Given the description of an element on the screen output the (x, y) to click on. 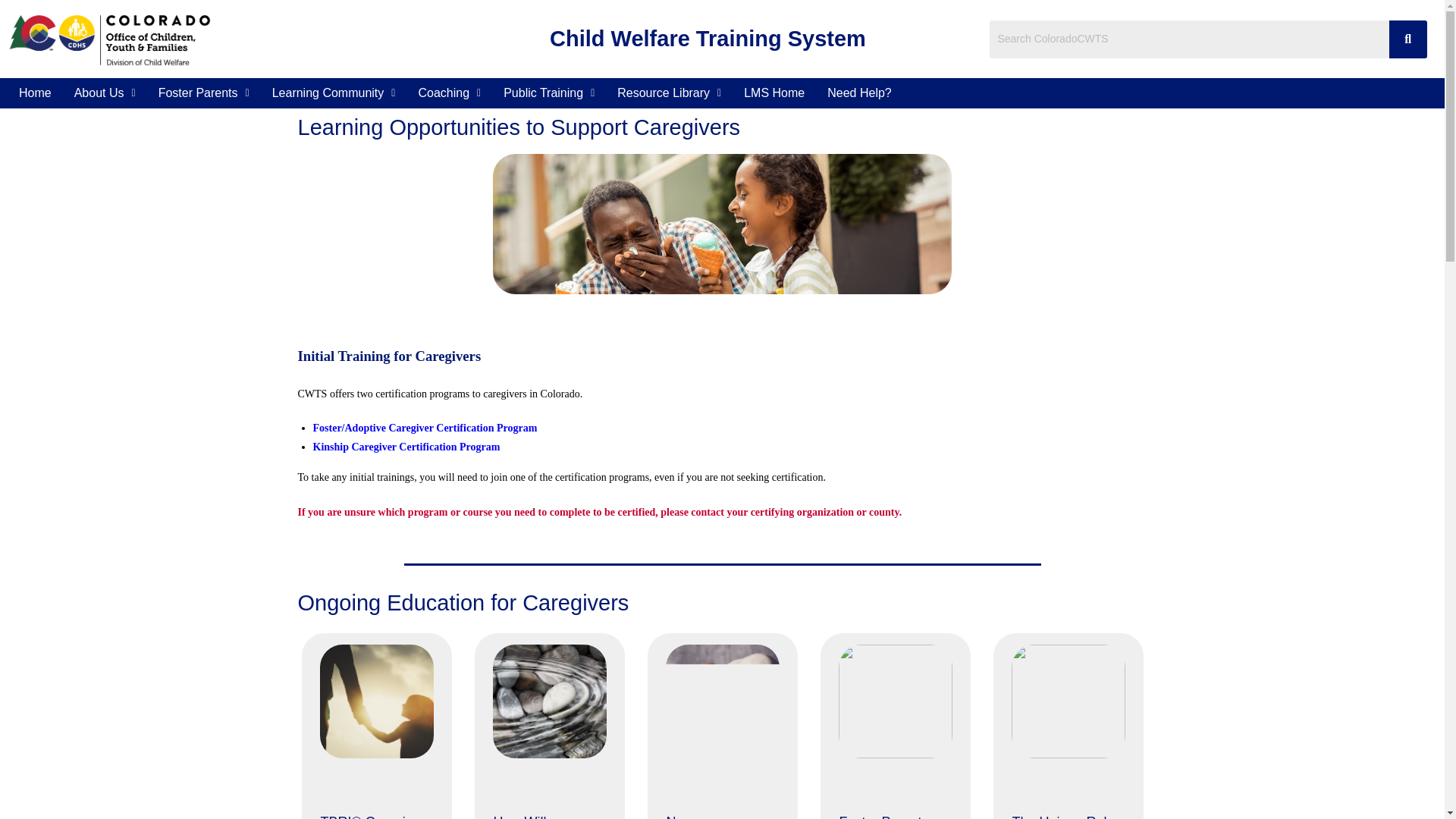
About Us (104, 92)
Search (1189, 39)
Learning Community (333, 92)
Foster Parents (203, 92)
Home (34, 92)
